Given the description of an element on the screen output the (x, y) to click on. 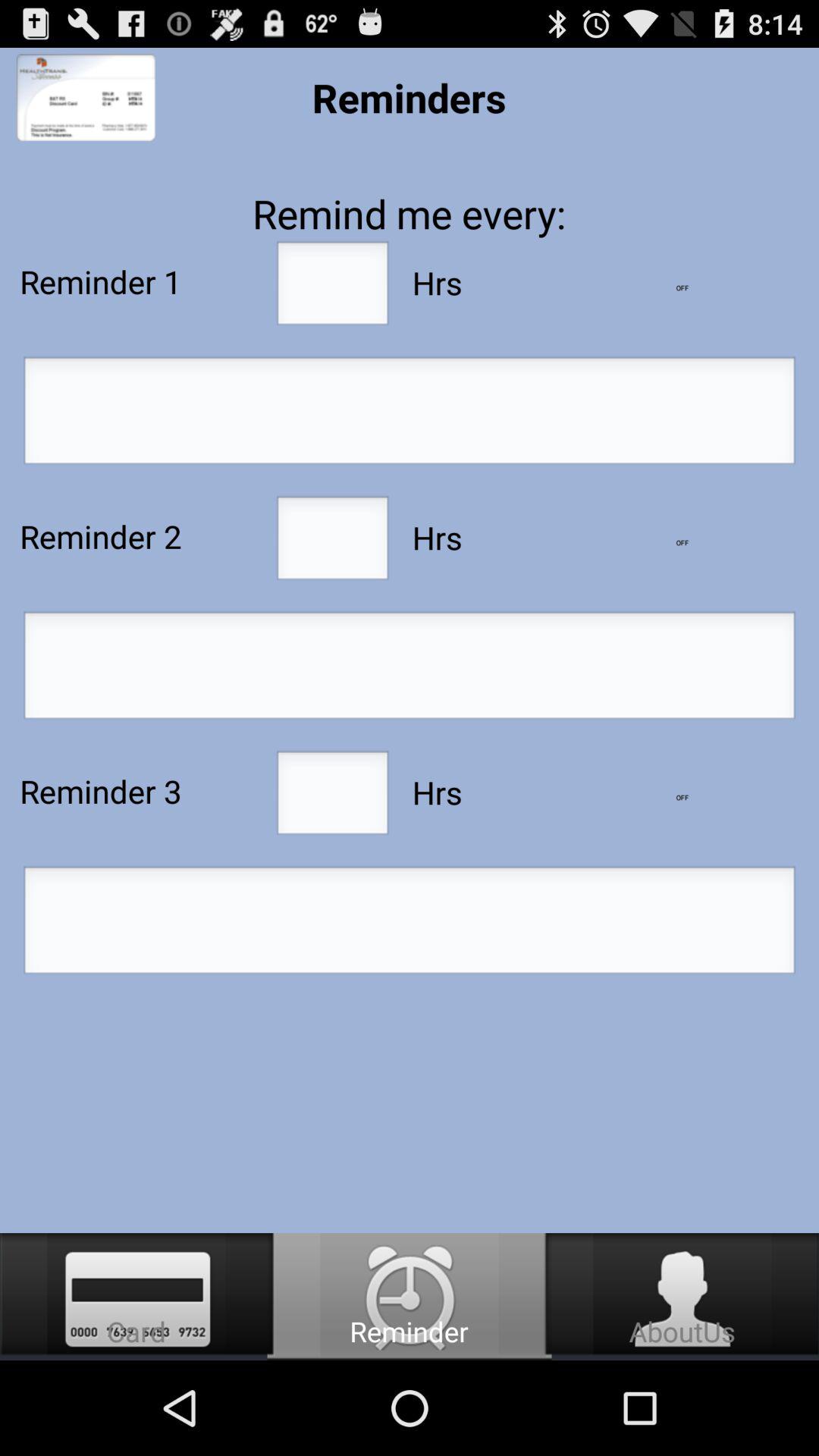
reminder 2 input field (332, 542)
